Given the description of an element on the screen output the (x, y) to click on. 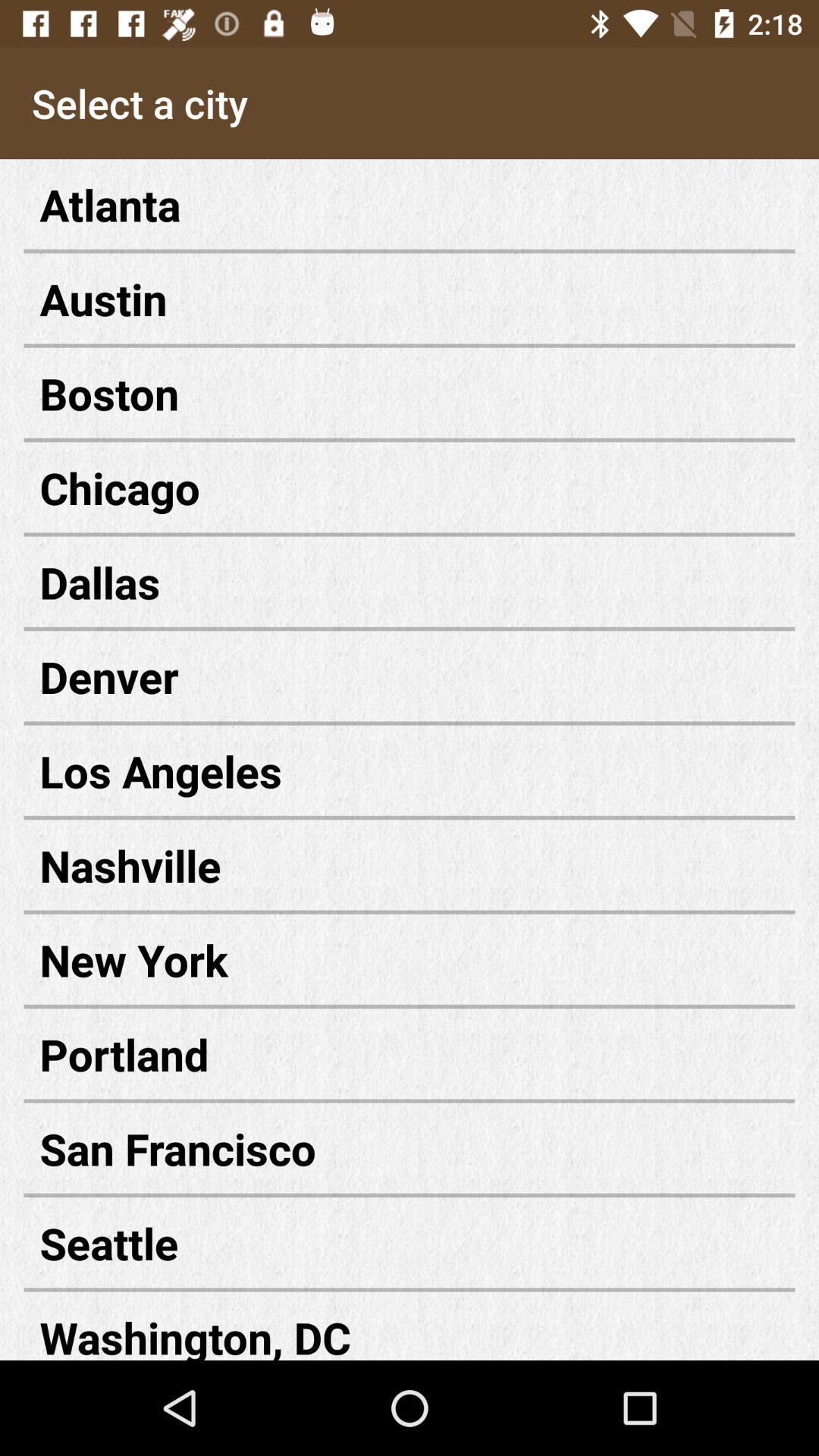
swipe to chicago icon (409, 487)
